Given the description of an element on the screen output the (x, y) to click on. 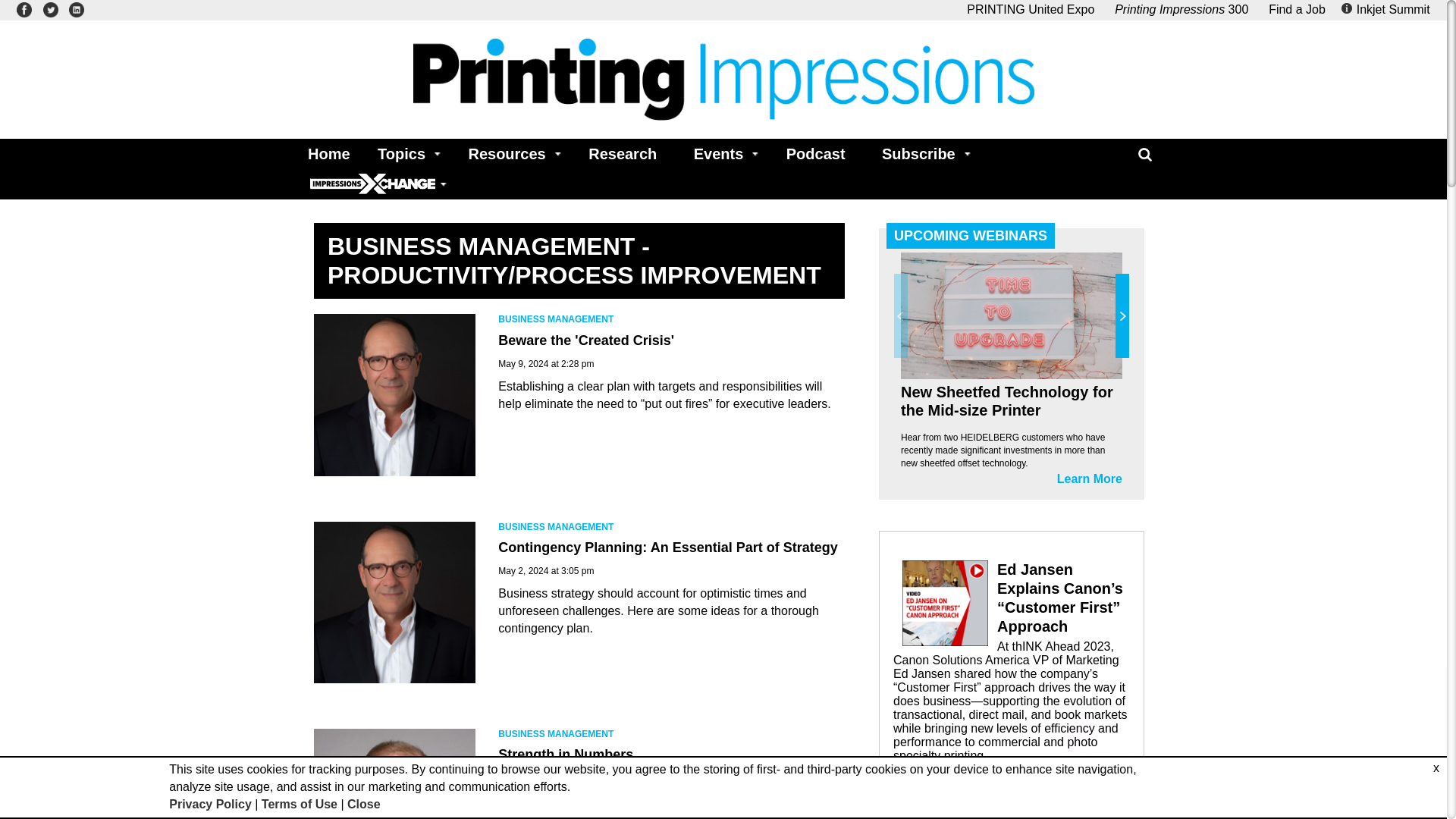
Opens in a new window (1387, 9)
Resources (509, 153)
3rd party ad content (1011, 661)
Inkjet Summit (1387, 9)
Opens in a new window (1181, 9)
Topics (404, 153)
Home (324, 153)
Find a Job (1296, 9)
Opens in a new window (1030, 9)
Printing Impressions 300 (1181, 9)
PRINTING United Expo (1030, 9)
Opens in a new window (50, 9)
Opens in a new window (76, 9)
Opens in a new window (24, 9)
